Given the description of an element on the screen output the (x, y) to click on. 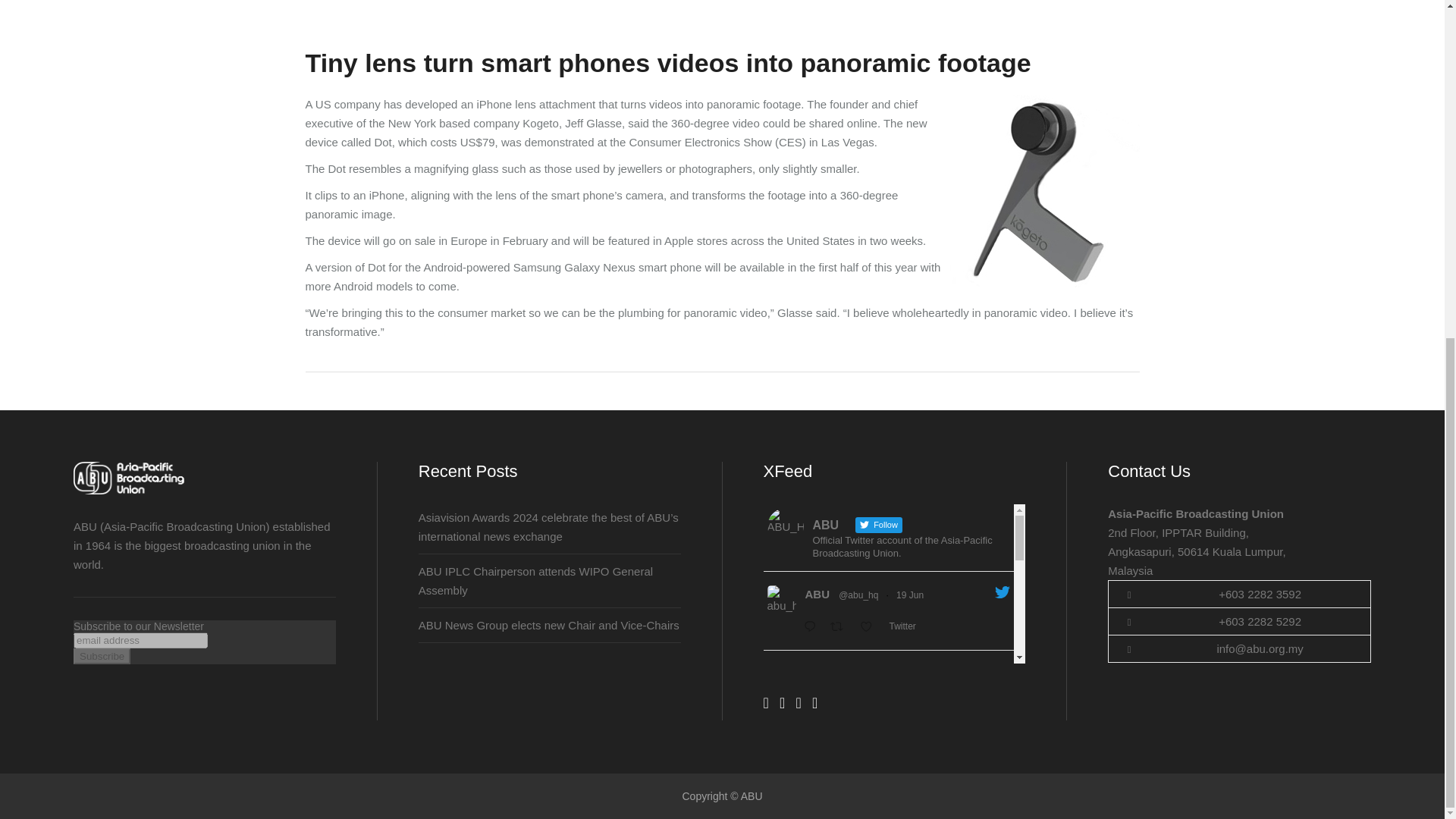
Subscribe (102, 656)
